Given the description of an element on the screen output the (x, y) to click on. 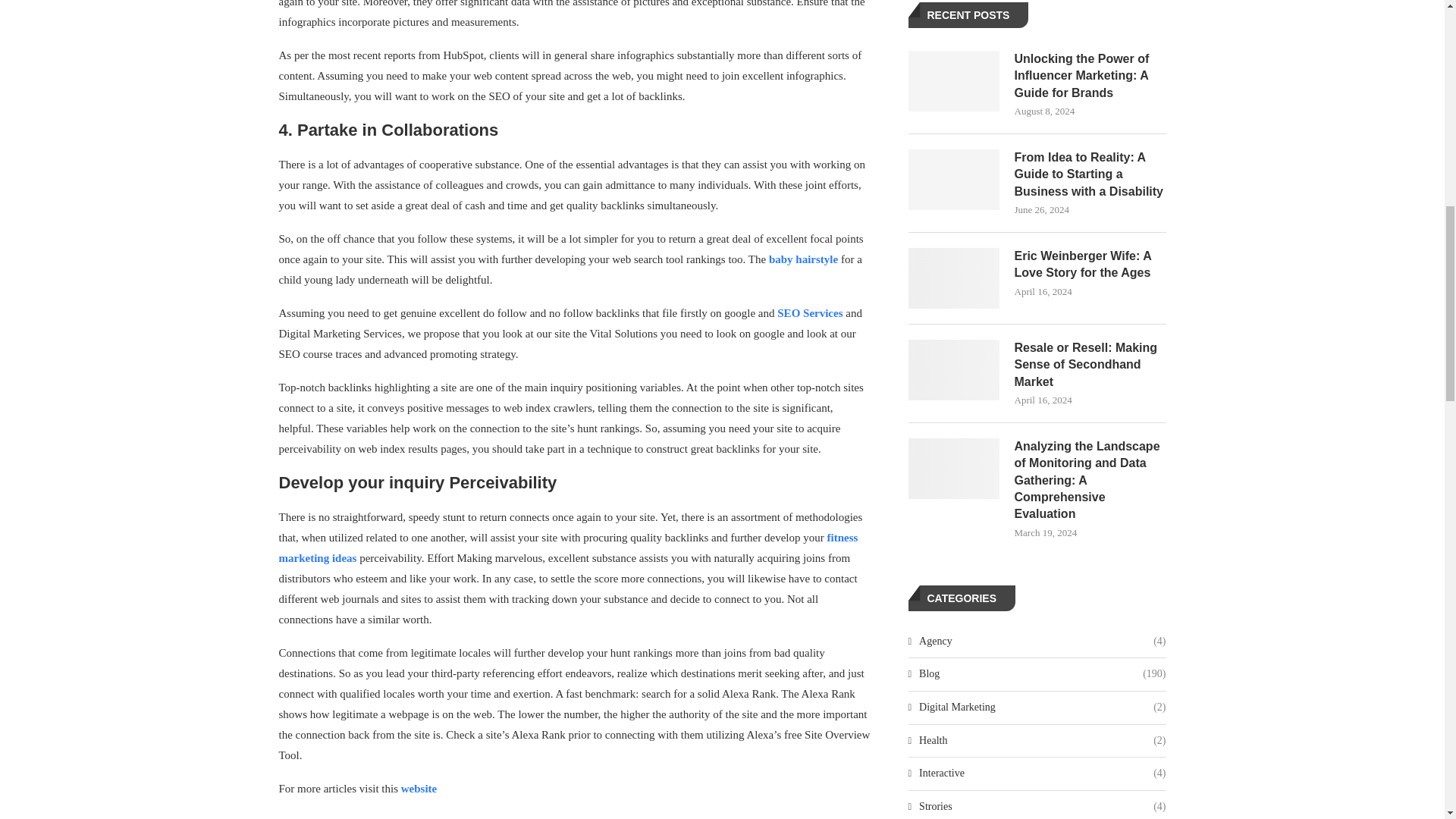
baby hairstyle (803, 259)
fitness marketing ideas (569, 547)
website (416, 788)
SEO Services (810, 313)
